Given the description of an element on the screen output the (x, y) to click on. 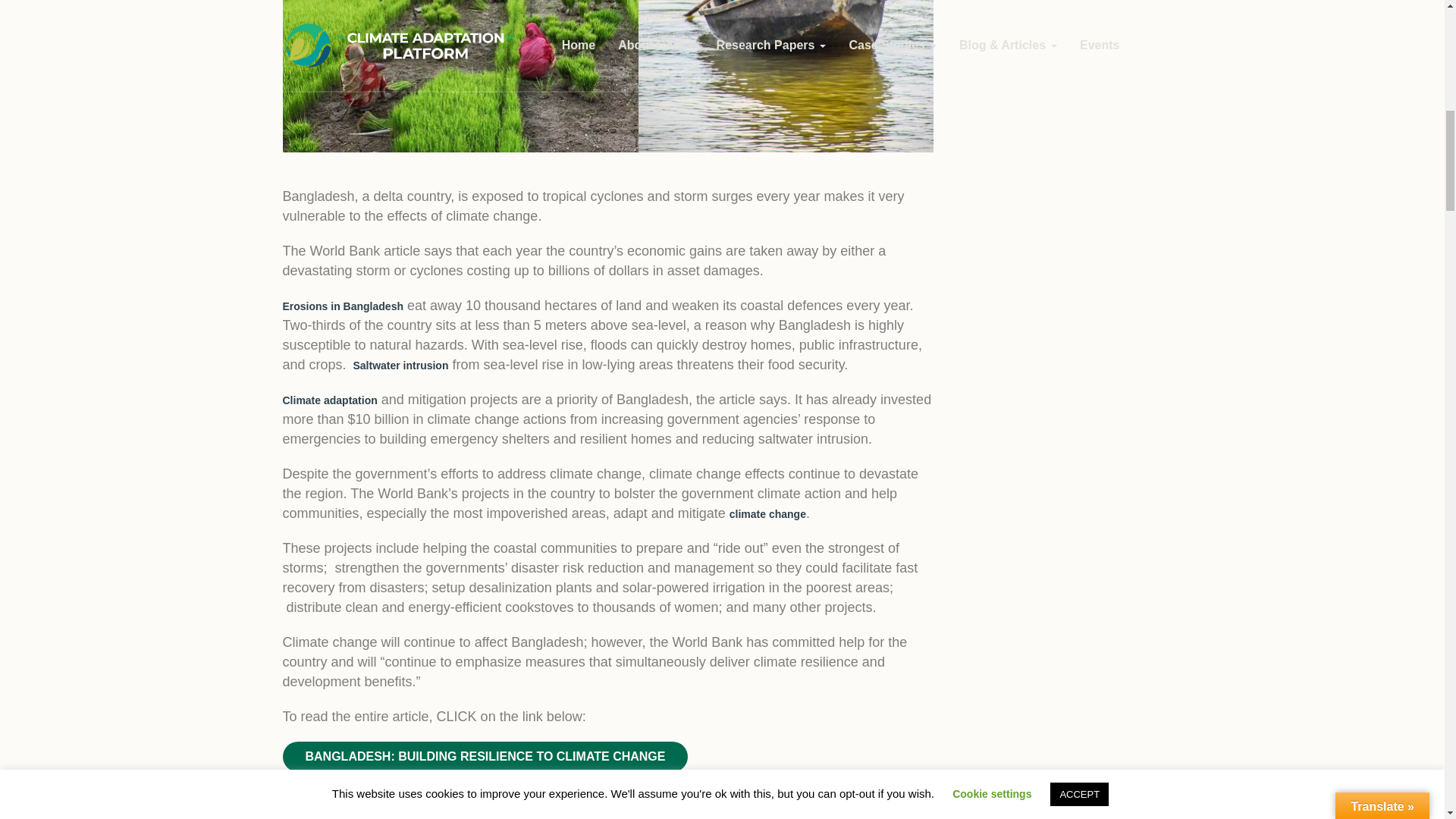
climate change adaptation mitigation bangladesh (607, 76)
